Given the description of an element on the screen output the (x, y) to click on. 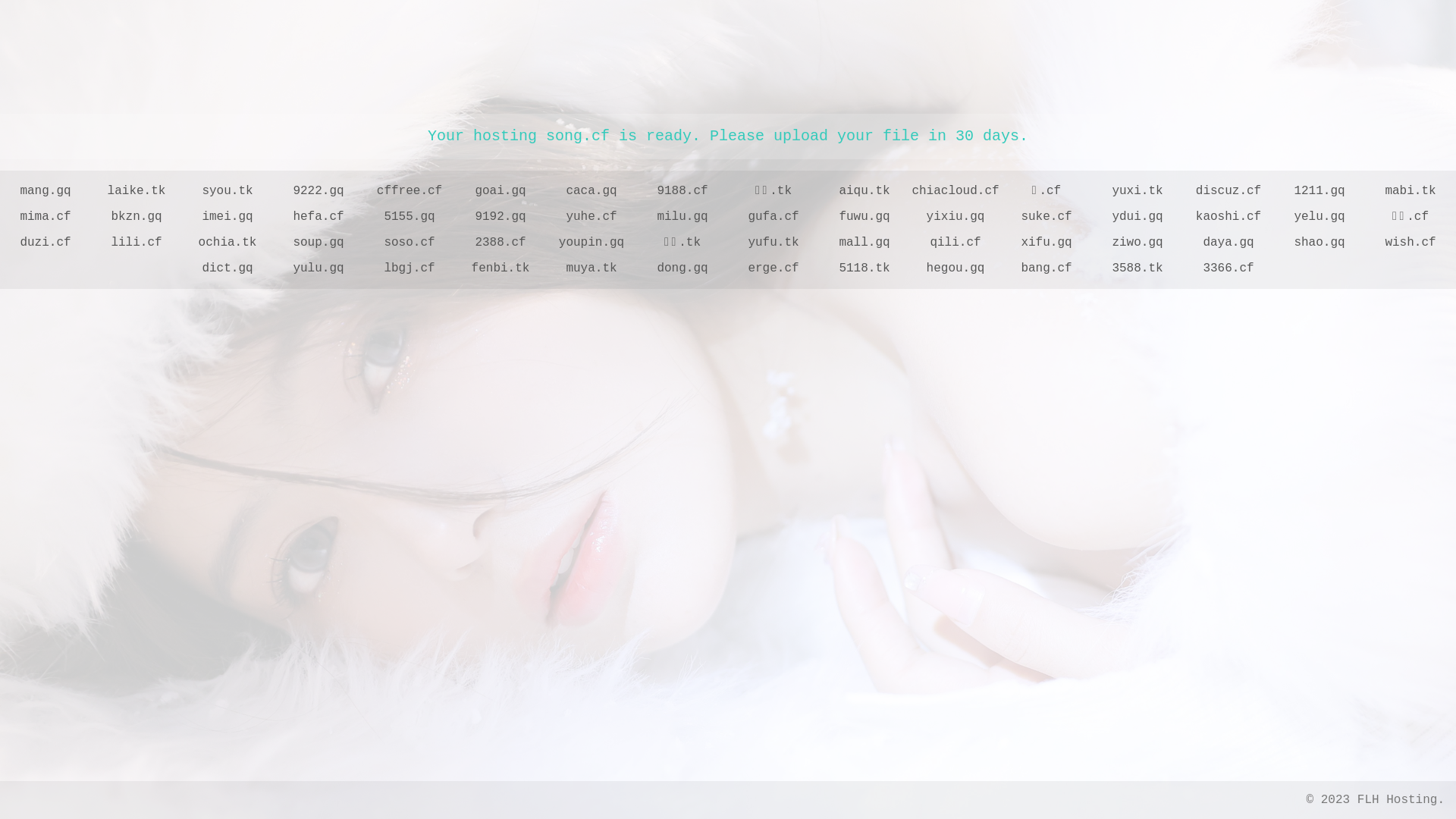
yelu.gq Element type: text (1319, 216)
aiqu.tk Element type: text (864, 190)
kaoshi.cf Element type: text (1228, 216)
milu.gq Element type: text (682, 216)
ochia.tk Element type: text (227, 242)
mall.gq Element type: text (864, 242)
ziwo.gq Element type: text (1137, 242)
bkzn.gq Element type: text (136, 216)
gufa.cf Element type: text (773, 216)
muya.tk Element type: text (591, 268)
3588.tk Element type: text (1137, 268)
hefa.cf Element type: text (318, 216)
syou.tk Element type: text (227, 190)
yuhe.cf Element type: text (591, 216)
mang.gq Element type: text (45, 190)
hegou.gq Element type: text (955, 268)
discuz.cf Element type: text (1228, 190)
soso.cf Element type: text (409, 242)
5155.gq Element type: text (409, 216)
imei.gq Element type: text (227, 216)
9188.cf Element type: text (682, 190)
erge.cf Element type: text (773, 268)
fenbi.tk Element type: text (500, 268)
suke.cf Element type: text (1046, 216)
mima.cf Element type: text (45, 216)
yulu.gq Element type: text (318, 268)
2388.cf Element type: text (500, 242)
chiacloud.cf Element type: text (955, 190)
fuwu.gq Element type: text (864, 216)
yuxi.tk Element type: text (1137, 190)
lili.cf Element type: text (136, 242)
bang.cf Element type: text (1046, 268)
duzi.cf Element type: text (45, 242)
youpin.gq Element type: text (591, 242)
ydui.gq Element type: text (1137, 216)
1211.gq Element type: text (1319, 190)
daya.gq Element type: text (1228, 242)
xifu.gq Element type: text (1046, 242)
caca.gq Element type: text (591, 190)
soup.gq Element type: text (318, 242)
yixiu.gq Element type: text (955, 216)
5118.tk Element type: text (864, 268)
cffree.cf Element type: text (409, 190)
yufu.tk Element type: text (773, 242)
goai.gq Element type: text (500, 190)
3366.cf Element type: text (1228, 268)
laike.tk Element type: text (136, 190)
lbgj.cf Element type: text (409, 268)
9222.gq Element type: text (318, 190)
dong.gq Element type: text (682, 268)
dict.gq Element type: text (227, 268)
9192.gq Element type: text (500, 216)
shao.gq Element type: text (1319, 242)
qili.cf Element type: text (955, 242)
